Given the description of an element on the screen output the (x, y) to click on. 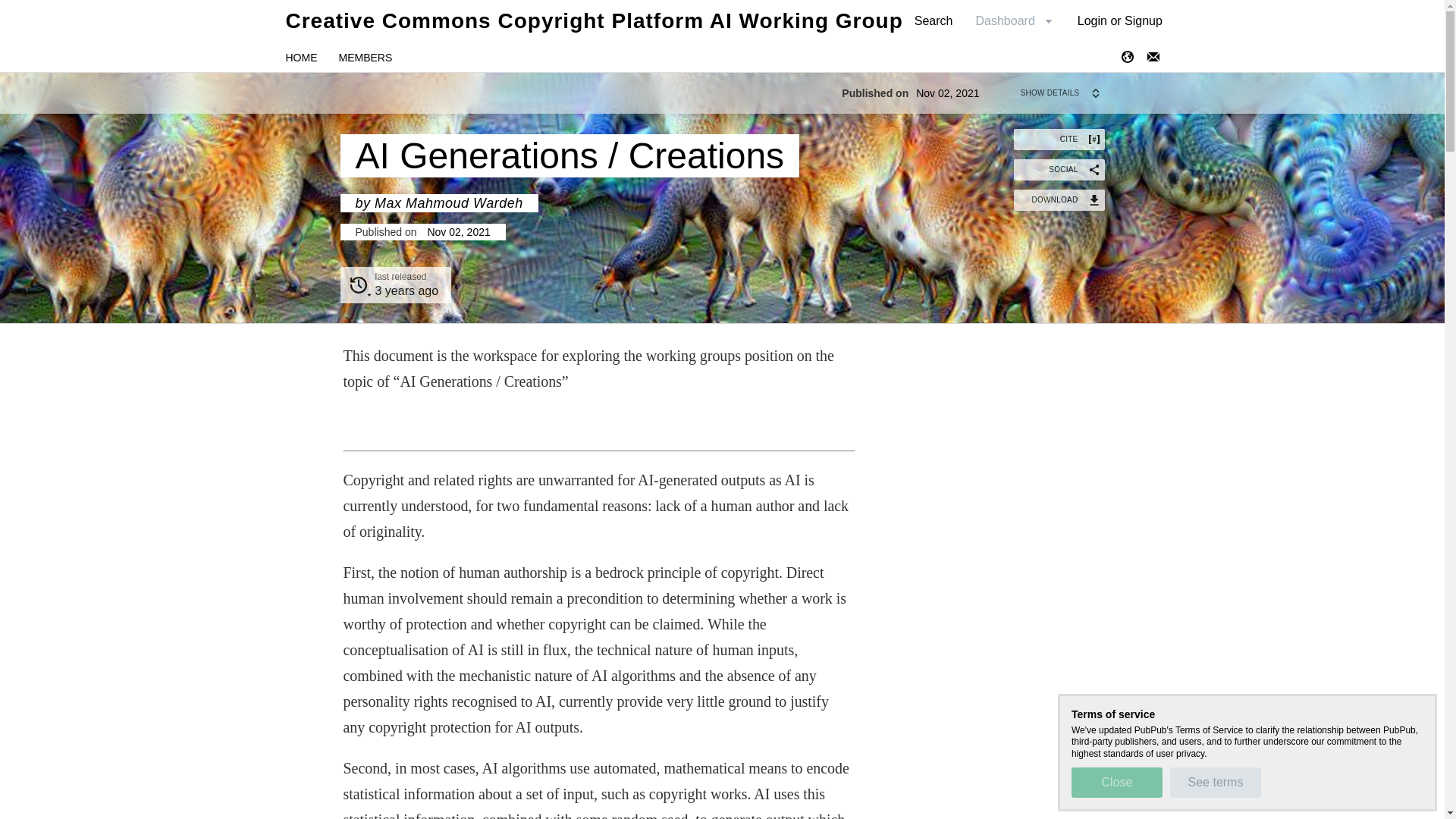
MEMBERS (364, 57)
SHOW DETAILS (1062, 93)
Creative Commons Copyright Platform AI Working Group (593, 20)
HOME (301, 57)
Login or Signup (1119, 20)
See terms (1215, 782)
DOWNLOAD (1058, 199)
SOCIAL (1058, 169)
Close (1116, 782)
2021-11-08 18:23 (406, 290)
CITE (1058, 138)
Search (395, 284)
Max Mahmoud Wardeh (696, 82)
